Given the description of an element on the screen output the (x, y) to click on. 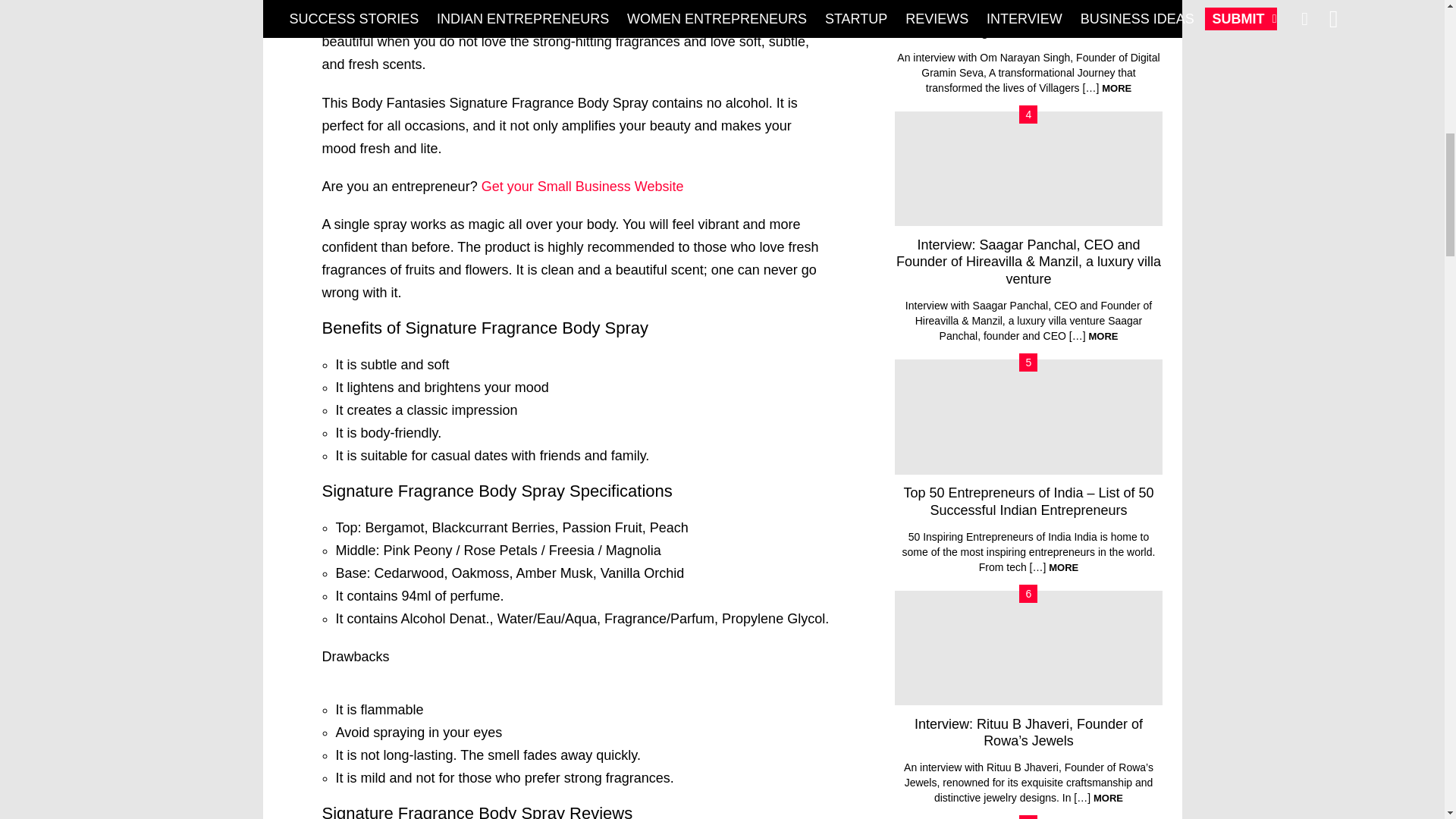
Get your Small Business Website (582, 186)
